Given the description of an element on the screen output the (x, y) to click on. 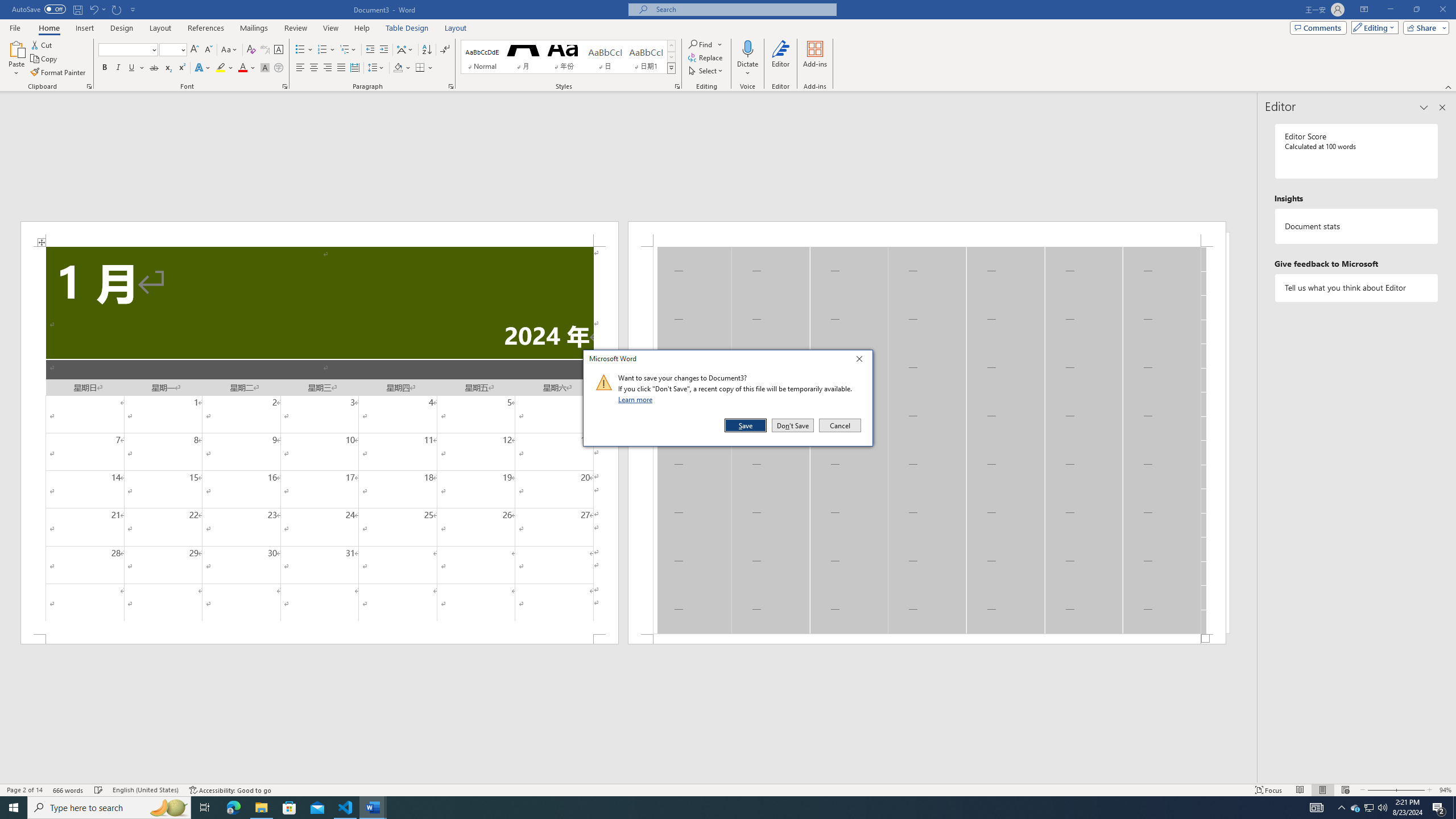
Document statistics (1356, 226)
